Given the description of an element on the screen output the (x, y) to click on. 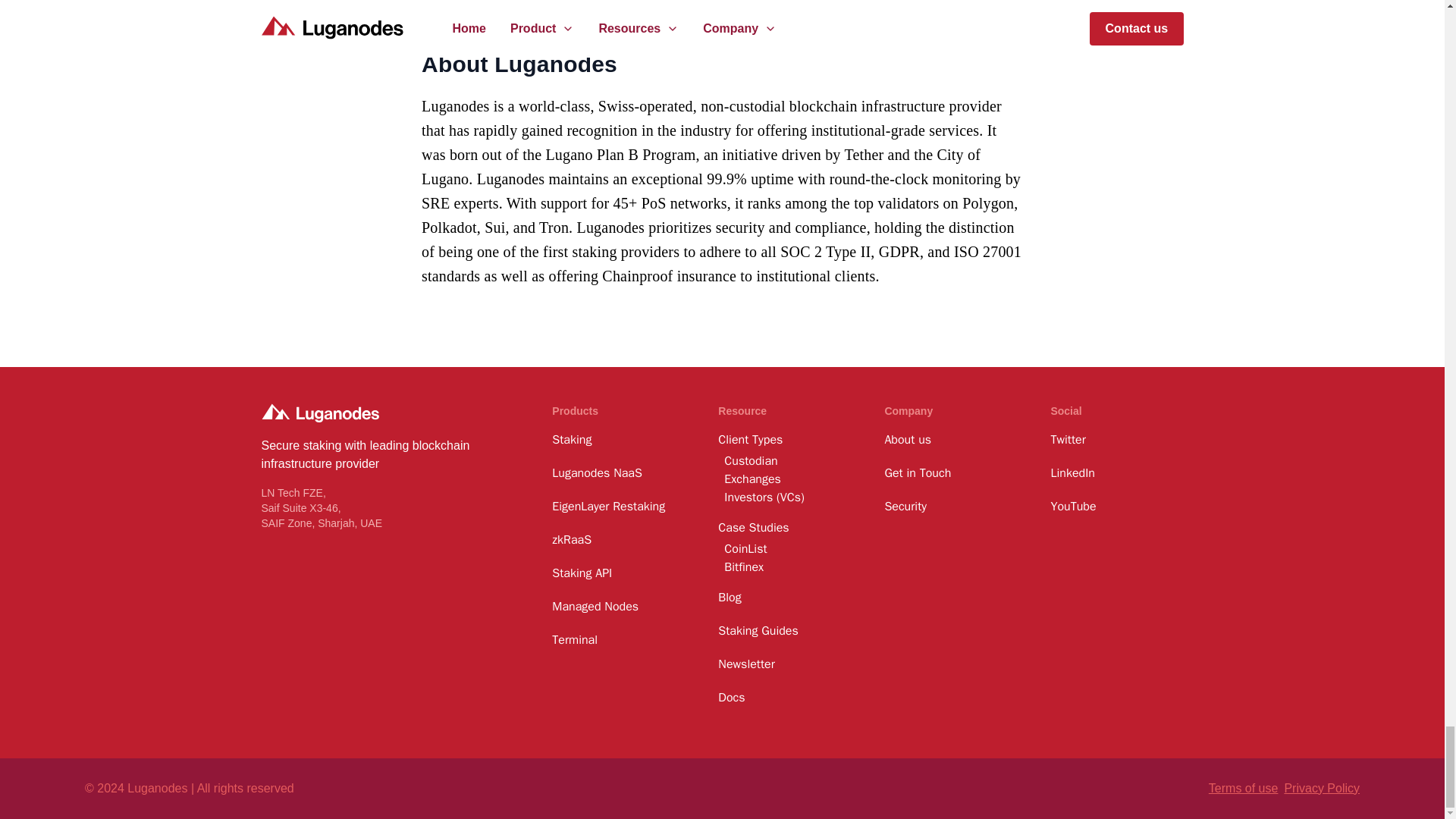
EigenLayer Restaking (617, 506)
Custodian (786, 461)
Staking (617, 439)
LinkedIn (1115, 473)
Blog (783, 597)
Twitter (1115, 439)
Managed Nodes (617, 606)
Exchanges (786, 479)
Staking Guides (783, 630)
CoinList (786, 548)
